Given the description of an element on the screen output the (x, y) to click on. 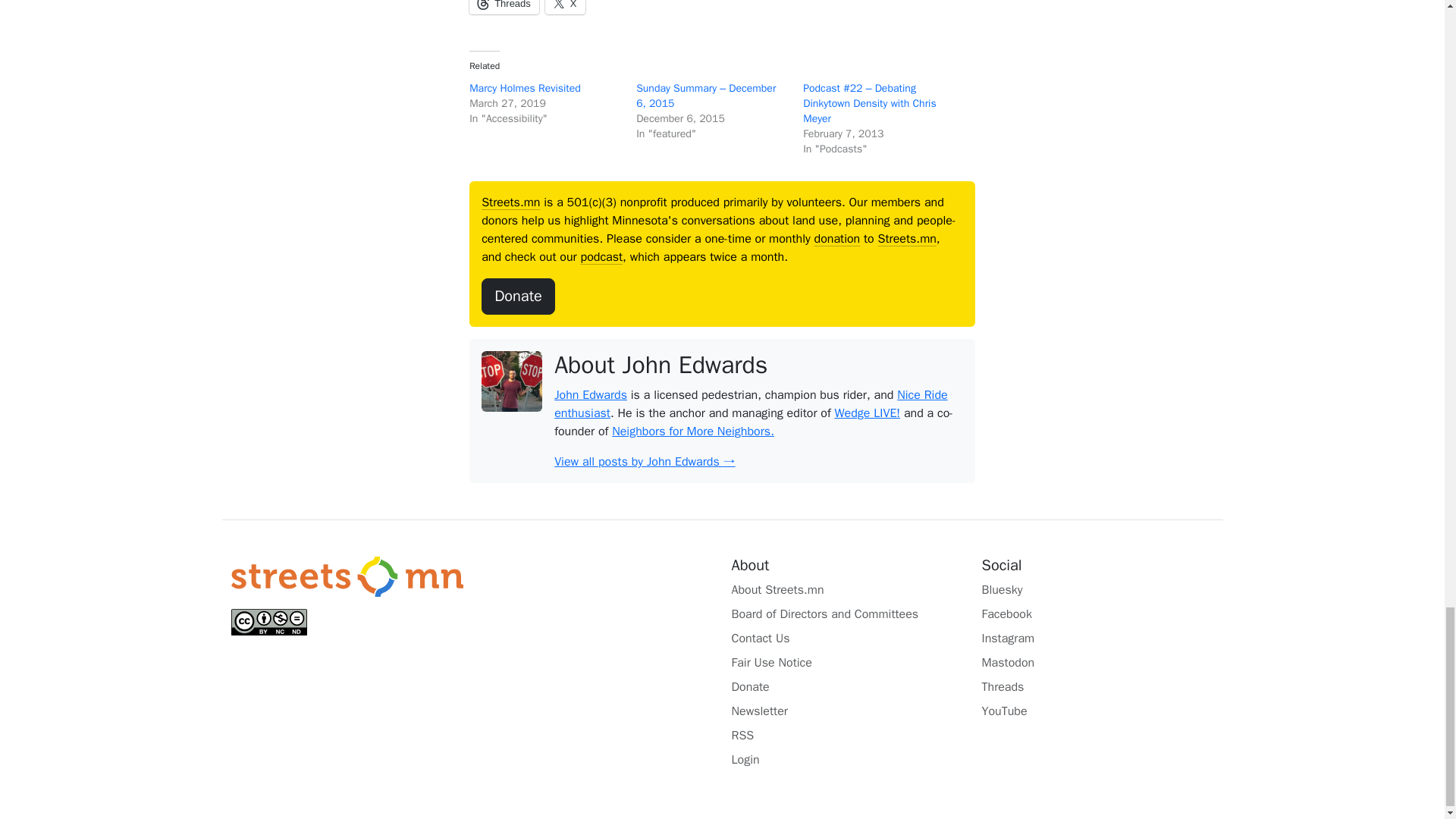
Threads (503, 7)
Streets.mn (346, 576)
X (564, 7)
Click to share on Threads (503, 7)
Marcy Holmes Revisited (524, 88)
Marcy Holmes Revisited (524, 88)
Click to share on X (564, 7)
